Given the description of an element on the screen output the (x, y) to click on. 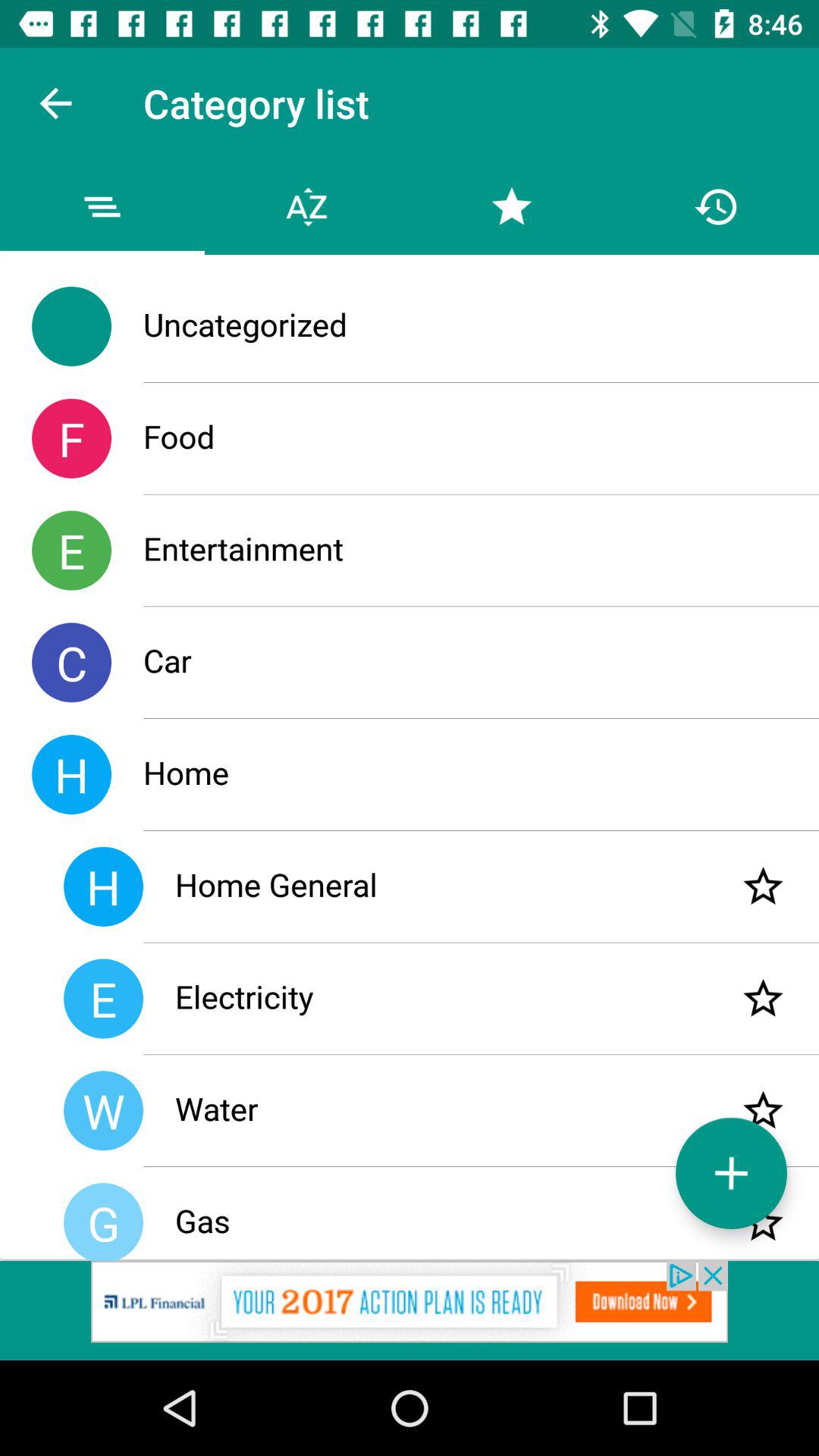
set as favourite (763, 1110)
